Given the description of an element on the screen output the (x, y) to click on. 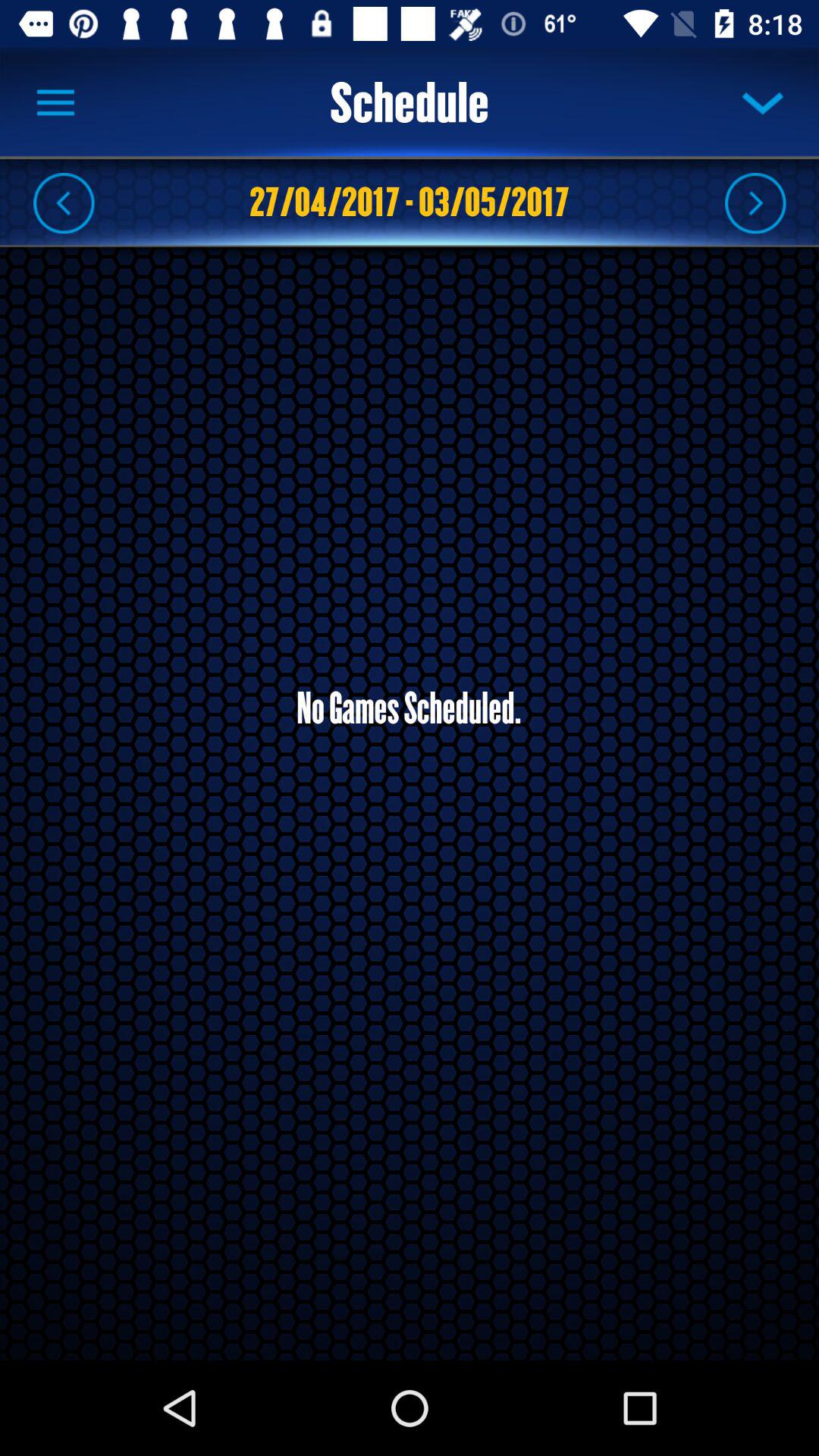
goes to next set of dates (755, 202)
